Given the description of an element on the screen output the (x, y) to click on. 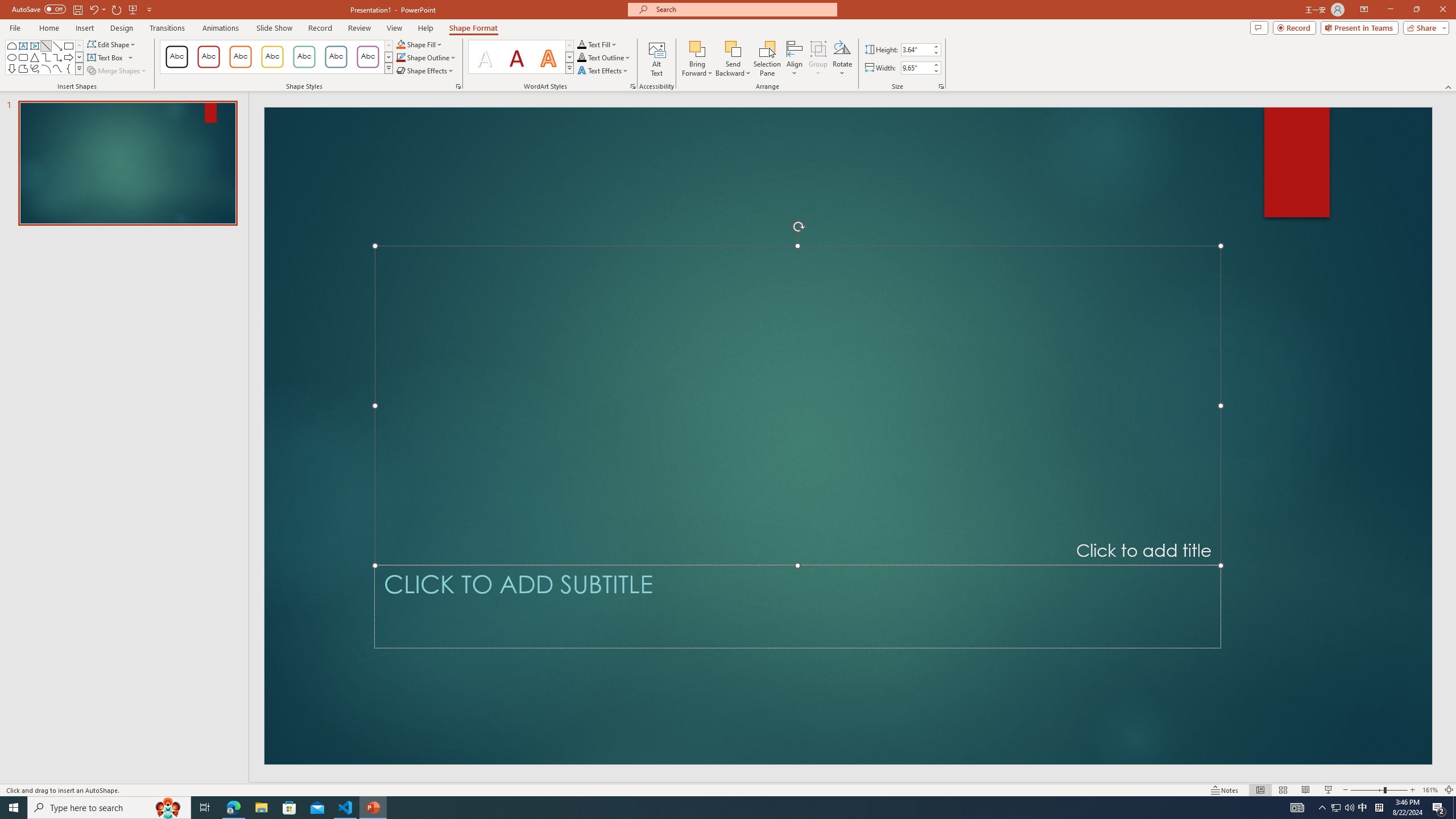
Quick Styles (568, 67)
Text Effects (603, 69)
Shape Effects (425, 69)
Shape Outline (426, 56)
Connector: Elbow Arrow (57, 57)
Rectangle: Rounded Corners (23, 57)
Title TextBox (797, 405)
Line (46, 45)
Shape Outline Blue, Accent 1 (400, 56)
